Given the description of an element on the screen output the (x, y) to click on. 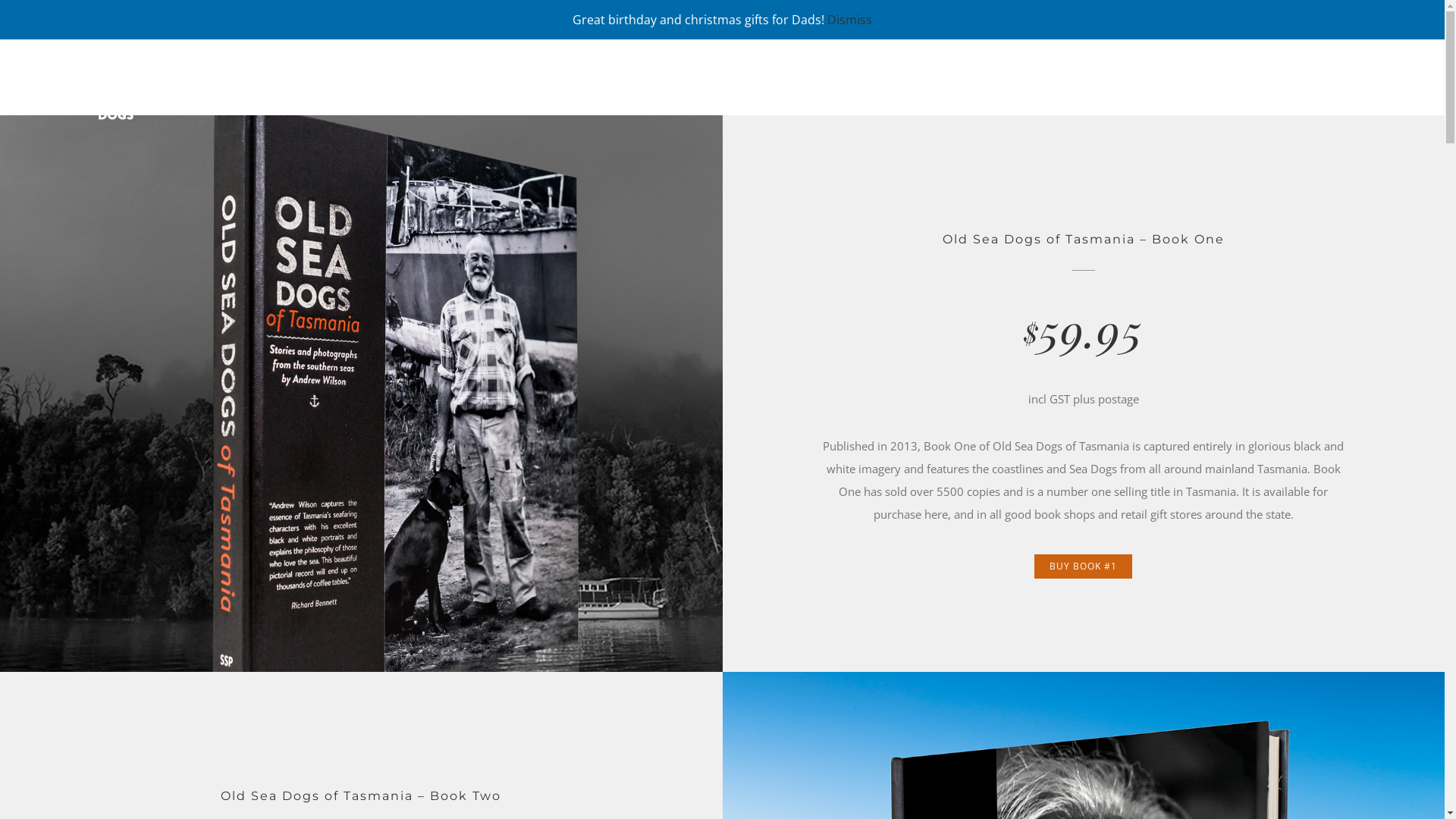
BUY BOOK #1 Element type: text (1083, 566)
Dismiss Element type: text (849, 19)
